Given the description of an element on the screen output the (x, y) to click on. 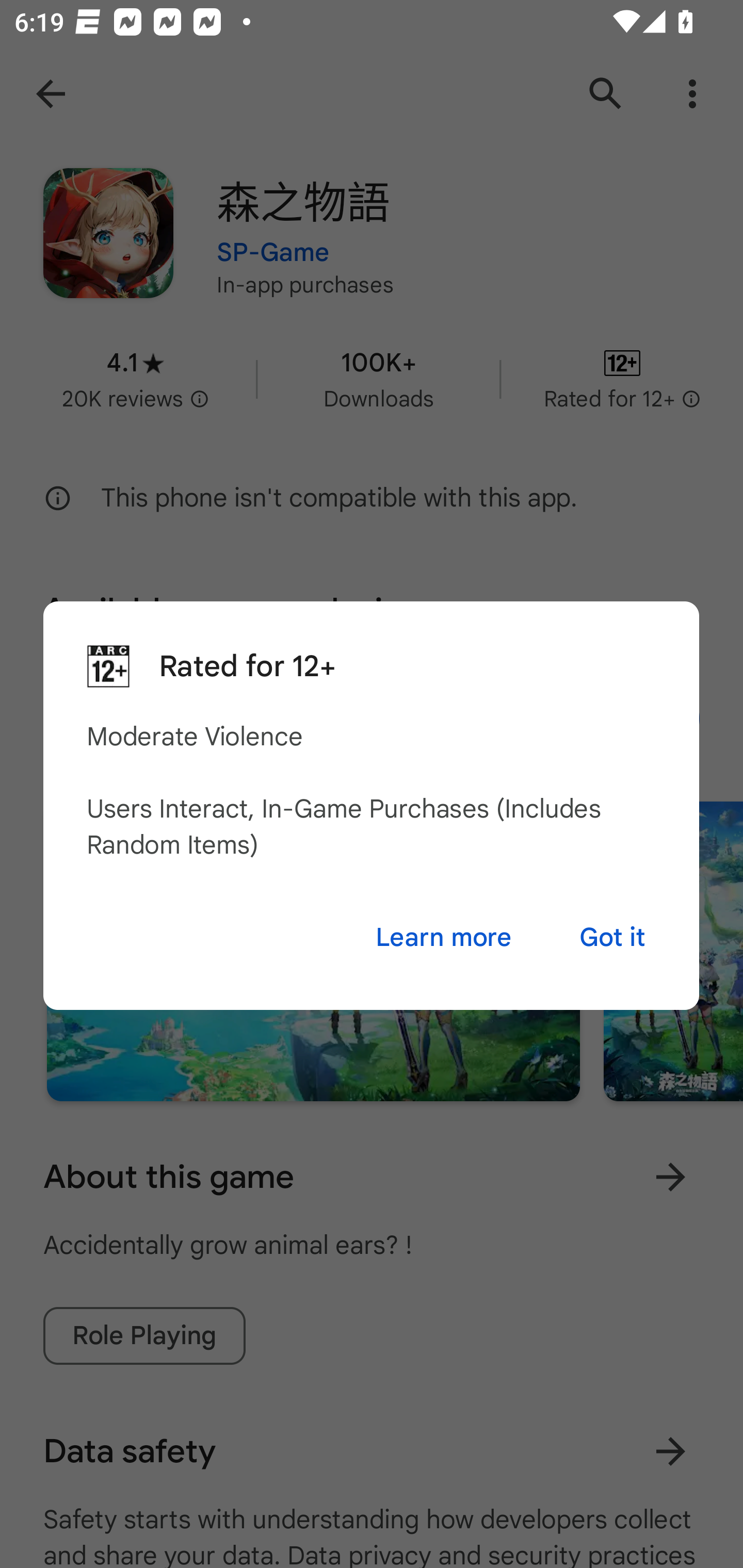
Learn more (443, 937)
Got it (612, 937)
